Given the description of an element on the screen output the (x, y) to click on. 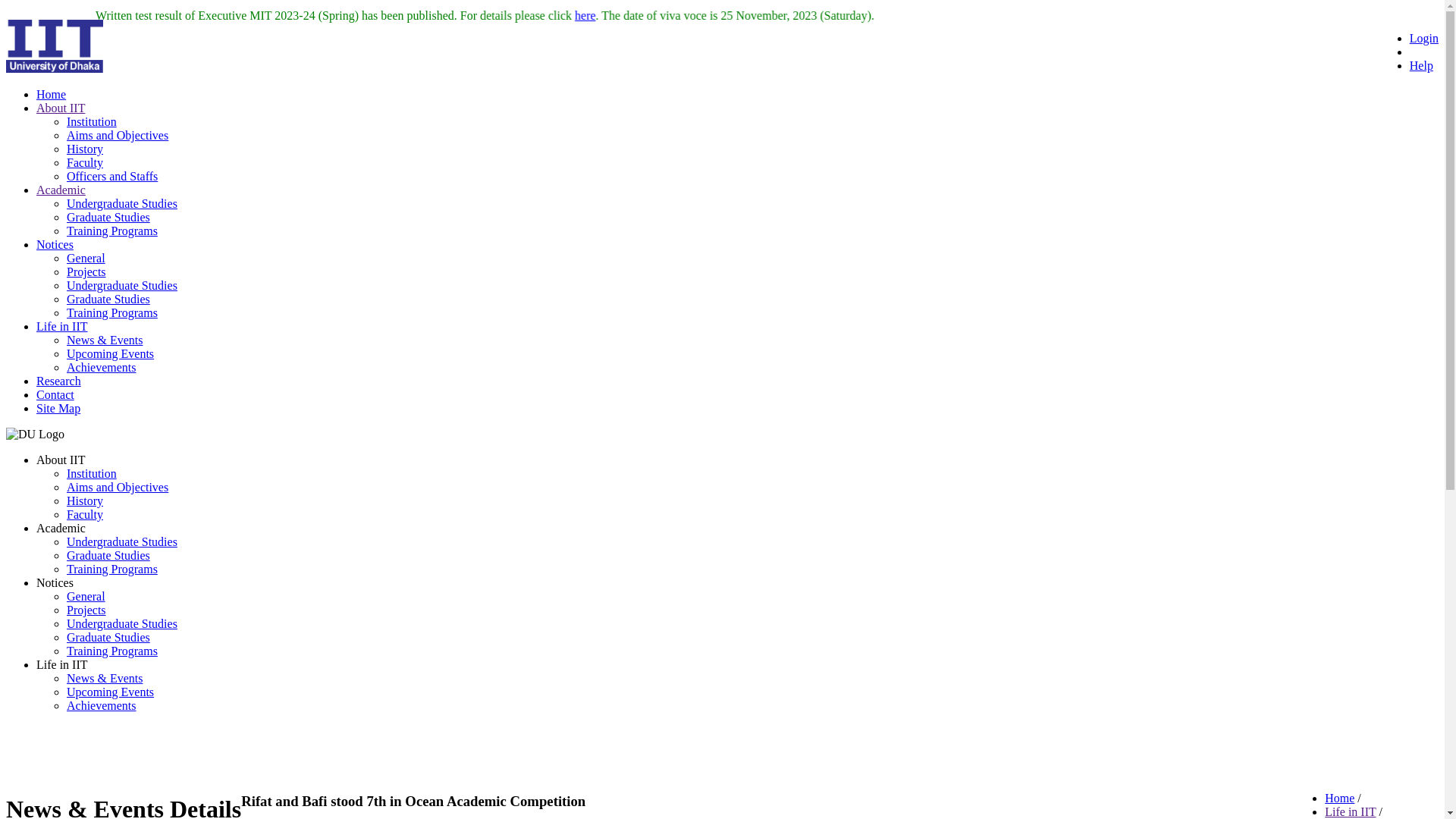
History Element type: text (84, 500)
News & Events Element type: text (104, 339)
Training Programs Element type: text (111, 568)
Faculty Element type: text (84, 514)
Projects Element type: text (86, 609)
here Element type: text (1175, 15)
Research Element type: text (58, 380)
Institution Element type: text (91, 121)
Aims and Objectives Element type: text (117, 134)
Training Programs Element type: text (111, 650)
Upcoming Events Element type: text (109, 353)
Undergraduate Studies Element type: text (121, 623)
Contact Element type: text (55, 394)
Projects Element type: text (86, 271)
General Element type: text (85, 595)
Undergraduate Studies Element type: text (121, 203)
Graduate Studies Element type: text (108, 298)
Faculty Element type: text (84, 162)
Undergraduate Studies Element type: text (121, 541)
Officers and Staffs Element type: text (111, 175)
Upcoming Events Element type: text (109, 691)
Graduate Studies Element type: text (108, 636)
Site Map Element type: text (58, 407)
Help Element type: text (1421, 65)
Home Element type: text (50, 93)
Institution Element type: text (91, 473)
Training Programs Element type: text (111, 230)
Training Programs Element type: text (111, 312)
Login Element type: text (1423, 37)
Life in IIT Element type: text (61, 326)
History Element type: text (84, 148)
Aims and Objectives Element type: text (117, 486)
Undergraduate Studies Element type: text (121, 285)
General Element type: text (85, 257)
Graduate Studies Element type: text (108, 216)
Achievements Element type: text (101, 705)
Home Element type: text (1339, 797)
About IIT Element type: text (60, 107)
Notices Element type: text (54, 244)
Life in IIT Element type: text (1349, 811)
Achievements Element type: text (101, 366)
News & Events Element type: text (104, 677)
Academic Element type: text (60, 189)
Graduate Studies Element type: text (108, 555)
